Given the description of an element on the screen output the (x, y) to click on. 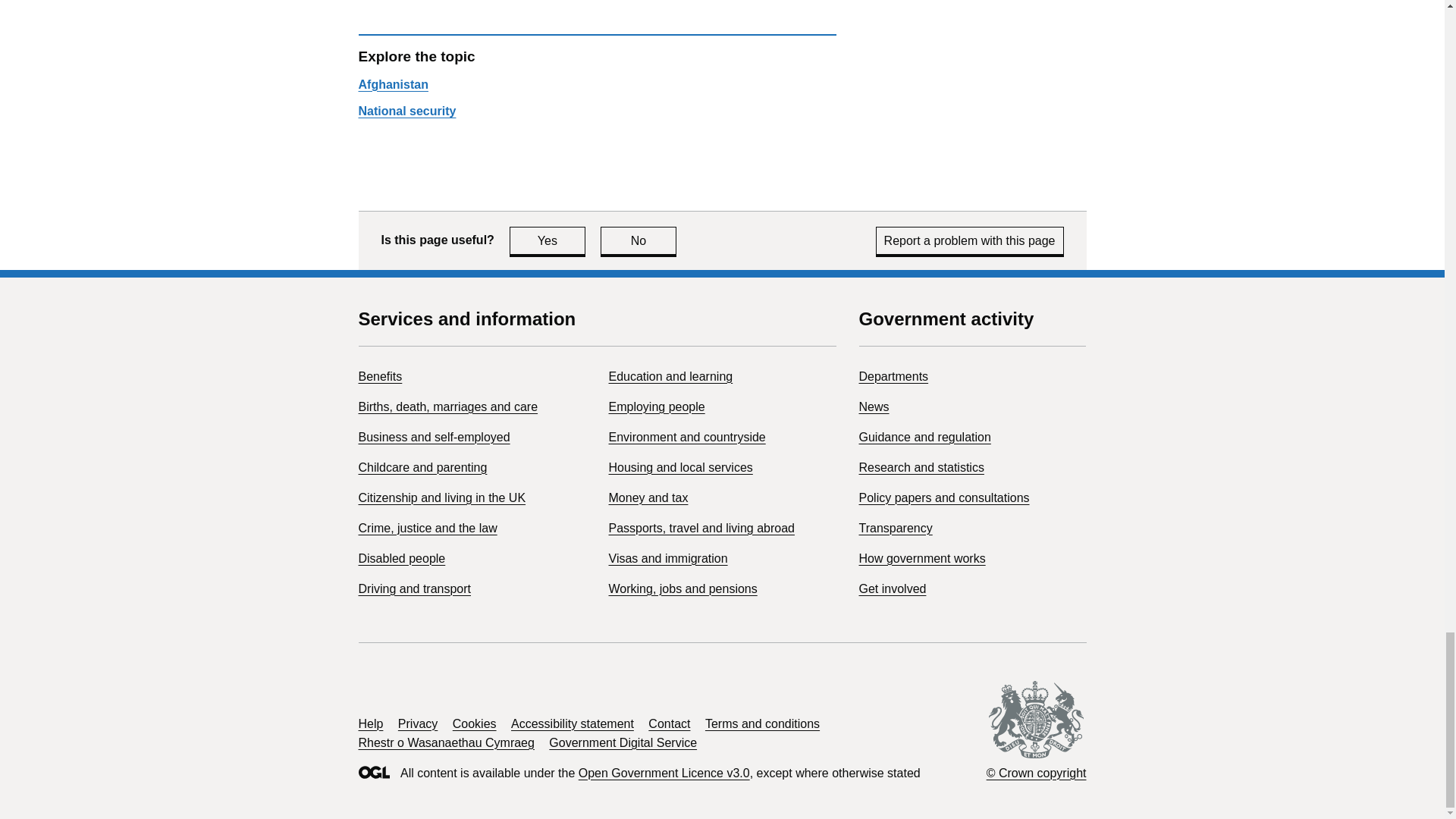
Policy papers and consultations (944, 497)
Afghanistan (393, 83)
Working, jobs and pensions (682, 588)
Research and statistics (921, 467)
Benefits (547, 240)
Environment and countryside (379, 376)
Births, death, marriages and care (686, 436)
Departments (447, 406)
Guidance and regulation (893, 376)
Business and self-employed (924, 436)
Education and learning (433, 436)
National security (670, 376)
Driving and transport (406, 110)
Report a problem with this page (414, 588)
